Given the description of an element on the screen output the (x, y) to click on. 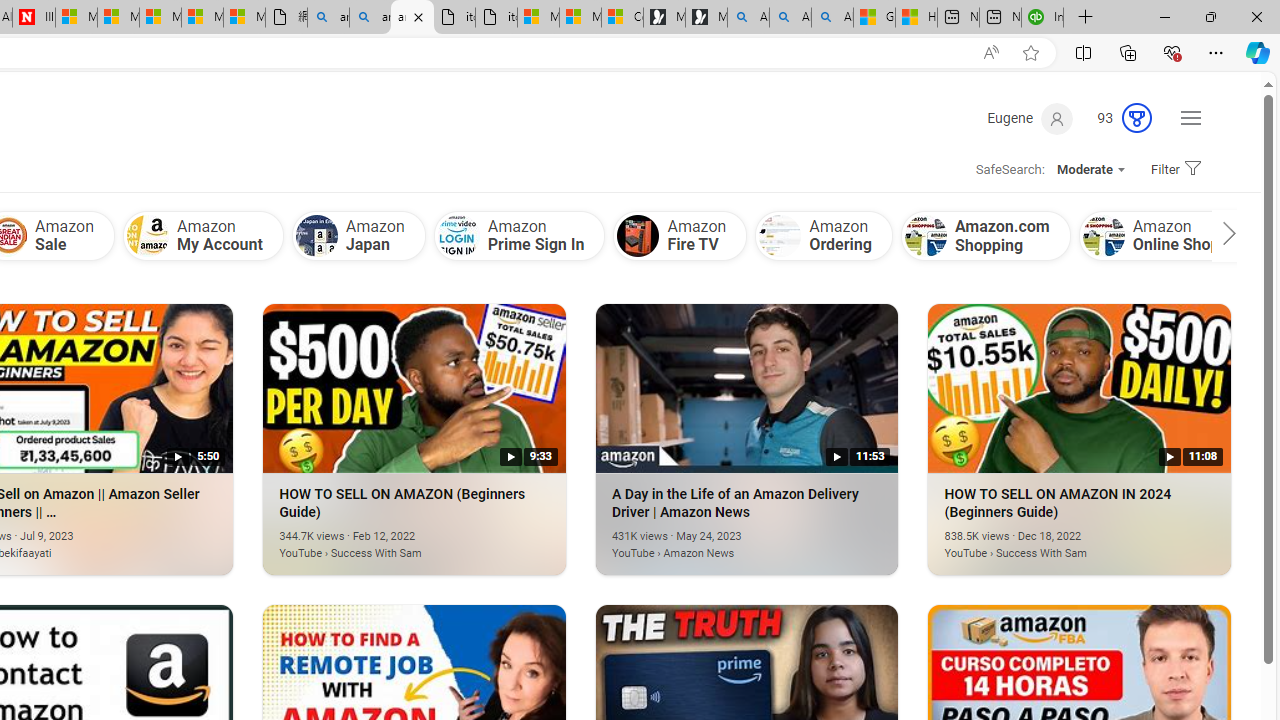
Amazon Online Shopping (1103, 236)
amazon - Search (328, 17)
Amazon My Account (146, 236)
Settings and quick links (1190, 117)
Filter (1172, 169)
Moderate (1090, 169)
Consumer Health Data Privacy Policy (621, 17)
Scroll right (1224, 236)
